Given the description of an element on the screen output the (x, y) to click on. 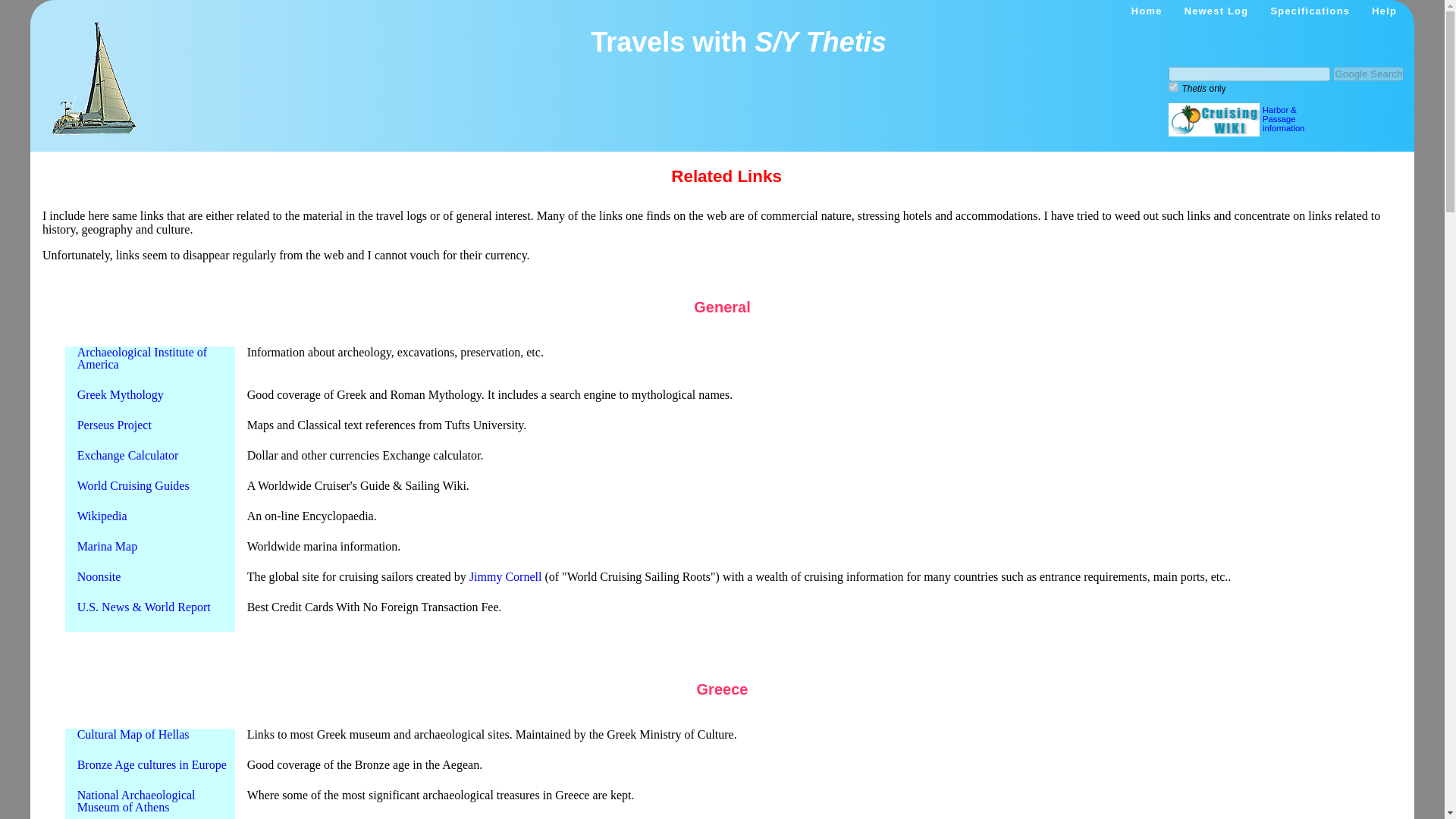
World Cruising Guides (133, 485)
Help (1383, 10)
Bronze Age cultures in Europe (152, 764)
Marina Map (107, 545)
Perseus Project (114, 424)
Cultural Map of Hellas (133, 734)
Exchange Calculator (128, 454)
Jimmy Cornell (504, 576)
Noonsite (98, 576)
Newest Log (1217, 10)
